Given the description of an element on the screen output the (x, y) to click on. 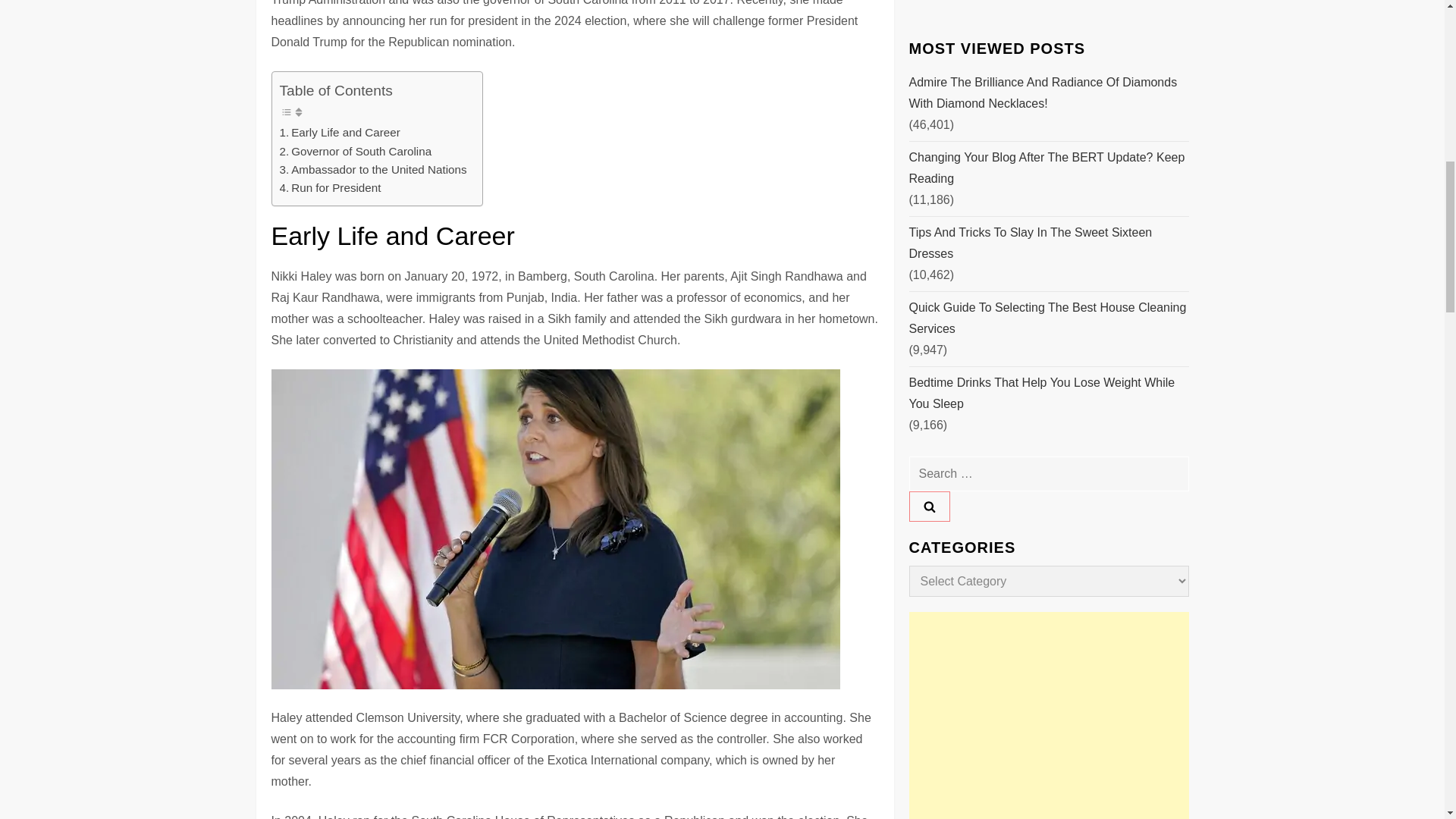
Run for President (329, 188)
Run for President (329, 188)
Visit BlogAdda.com to discover Indian blogs (938, 264)
Governor of South Carolina (354, 151)
Early Life and Career (338, 132)
Advertisement (1048, 133)
Ambassador to the United Nations (372, 169)
Early Life and Career (338, 132)
Ambassador to the United Nations (372, 169)
Governor of South Carolina (354, 151)
